Given the description of an element on the screen output the (x, y) to click on. 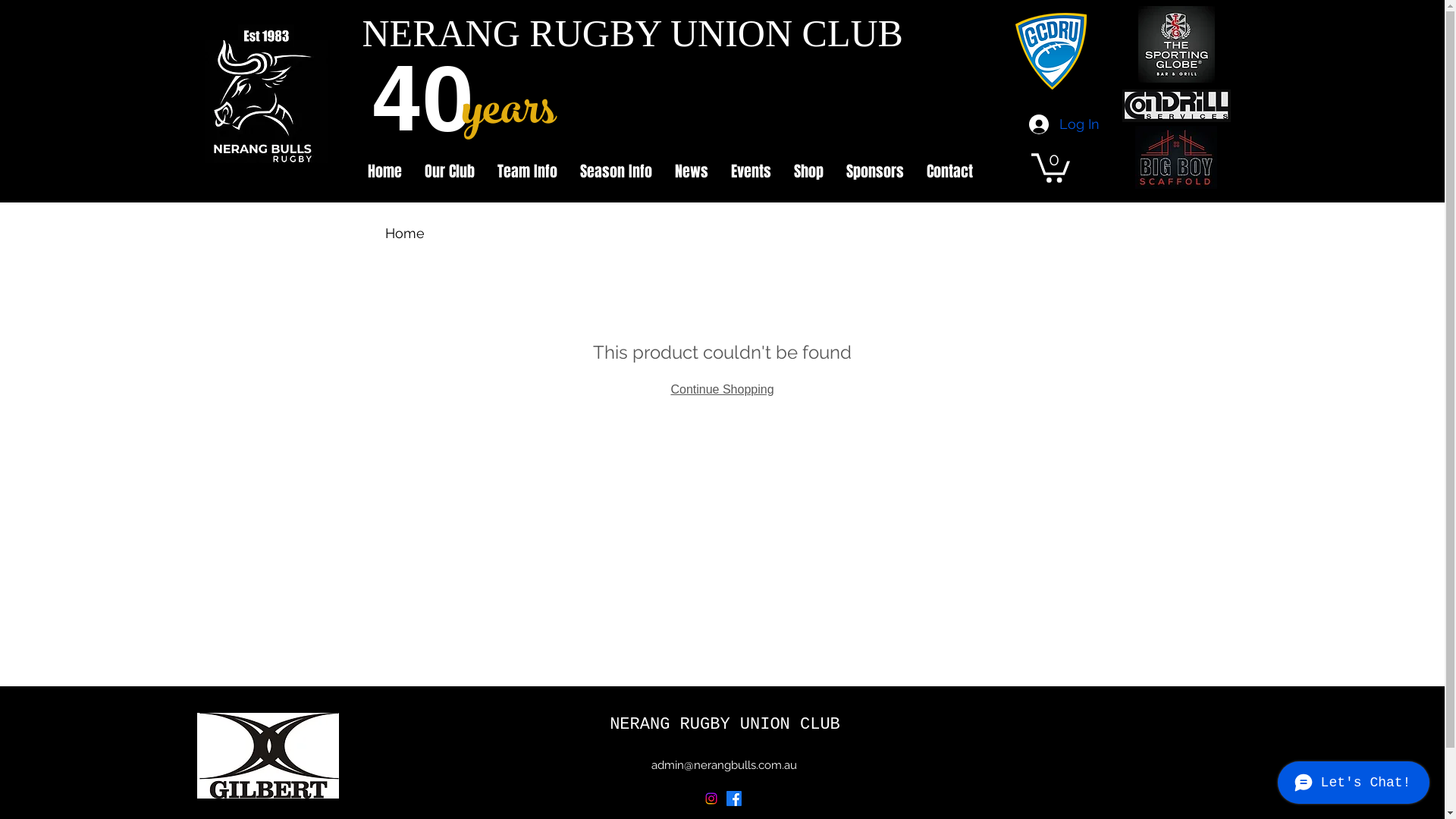
Continue Shopping Element type: text (721, 388)
Home Element type: text (404, 233)
Big boy scaffolding (002).jpg Element type: hover (1175, 156)
Contact Element type: text (948, 171)
admin@nerangbulls.com.au Element type: text (723, 764)
TSG (002).jpg Element type: hover (1175, 44)
Sponsors Element type: text (874, 171)
Events Element type: text (749, 171)
black est.png Element type: hover (266, 35)
black logo copy.png Element type: hover (265, 101)
0 Element type: text (1050, 166)
Season Info Element type: text (615, 171)
Home Element type: text (384, 171)
Condrill (002).PNG Element type: hover (1176, 105)
Team Info Element type: text (526, 171)
Shop Element type: text (808, 171)
Our Club Element type: text (448, 171)
Log In Element type: text (1043, 124)
News Element type: text (690, 171)
